Given the description of an element on the screen output the (x, y) to click on. 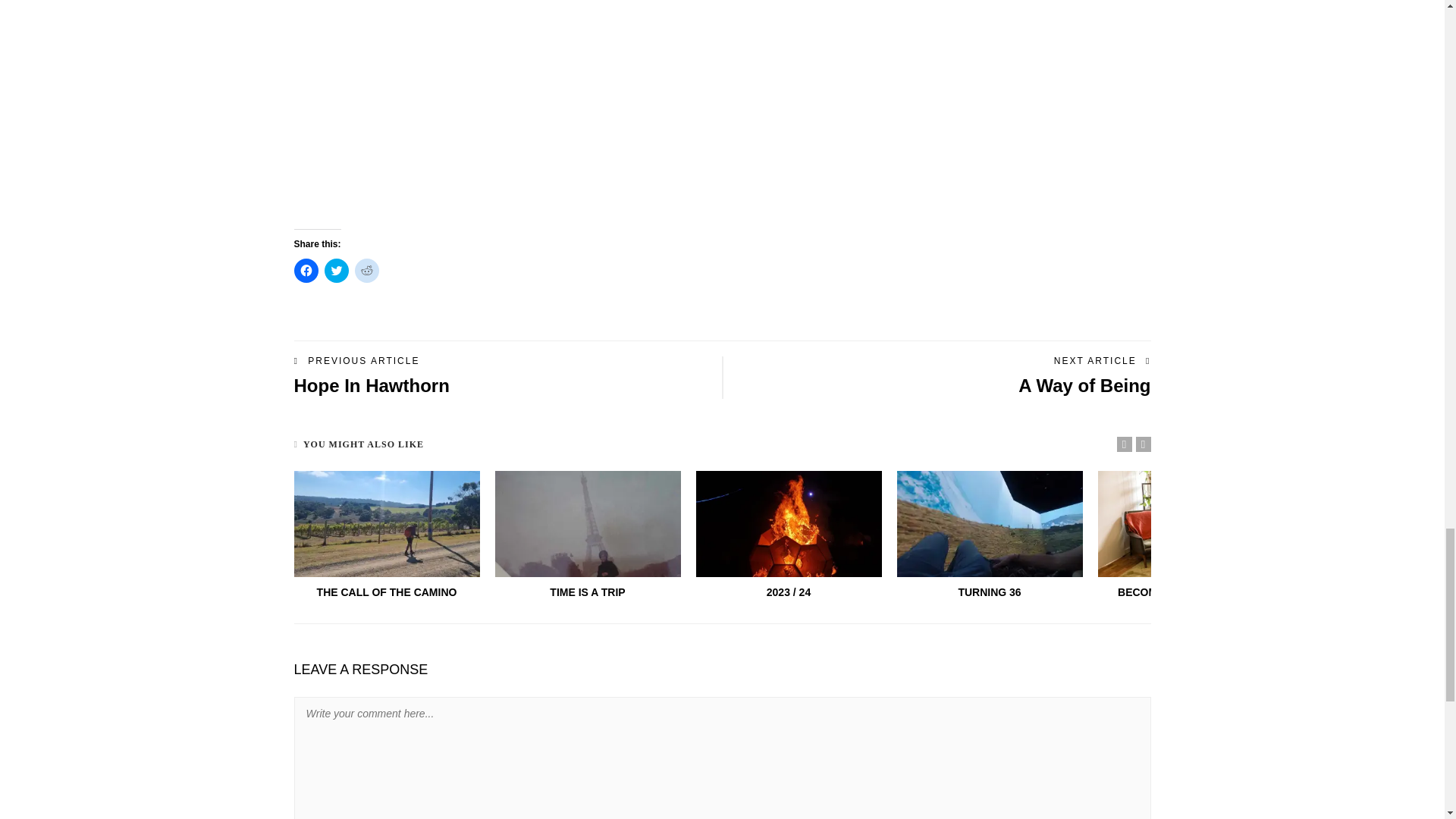
Hope In Hawthorn (371, 385)
Click to share on Facebook (306, 270)
Click to share on Twitter (336, 270)
Click to share on Reddit (366, 270)
Hope In Hawthorn (371, 385)
A Way of Being (1083, 385)
A Way of Being (1083, 385)
